Given the description of an element on the screen output the (x, y) to click on. 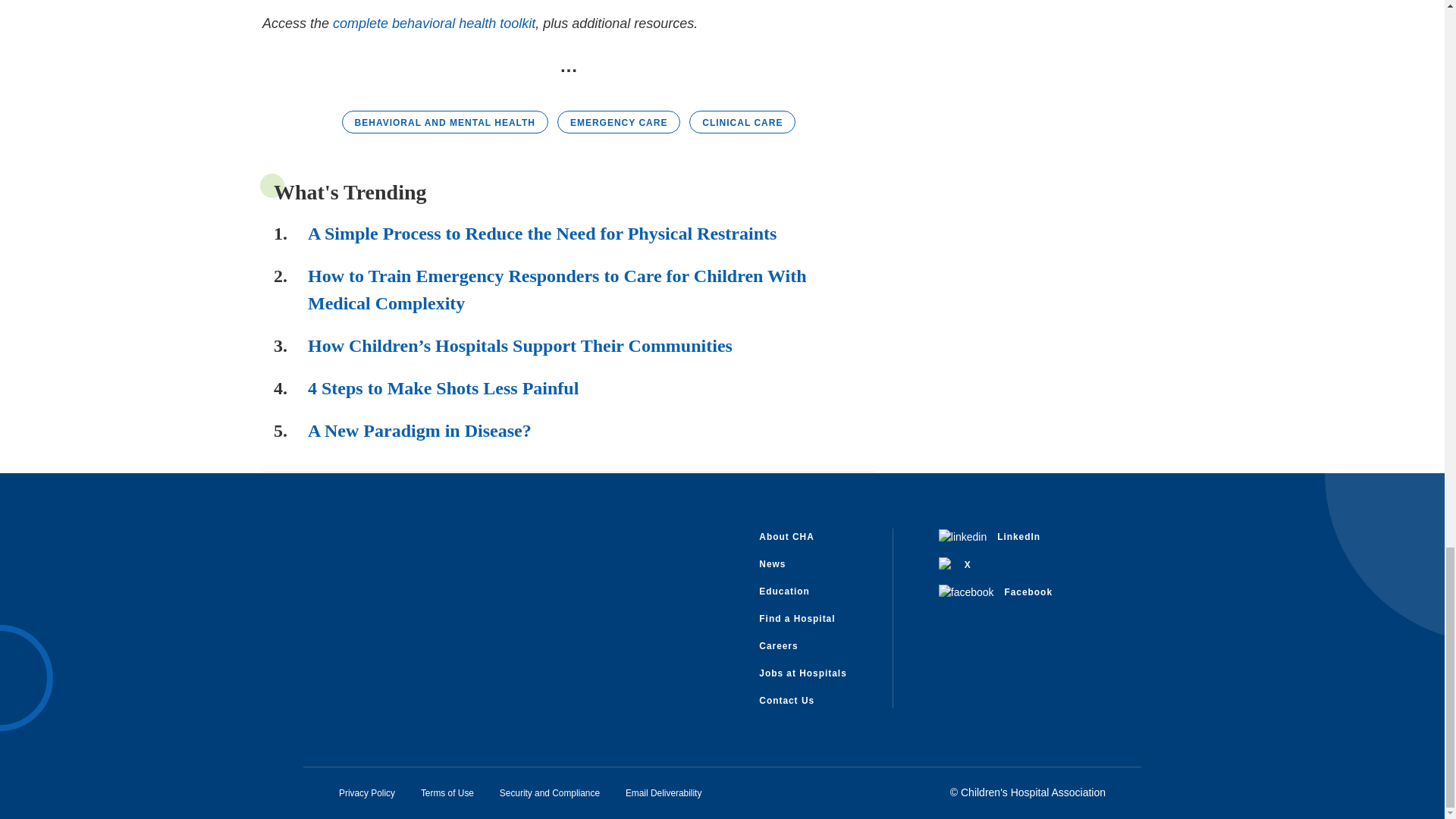
A New Paradigm in Disease? (419, 430)
BEHAVIORAL AND MENTAL HEALTH (445, 121)
complete behavioral health toolkit (434, 23)
EMERGENCY CARE (618, 121)
4 Steps to Make Shots Less Painful (442, 388)
A Simple Process to Reduce the Need for Physical Restraints (541, 233)
CLINICAL CARE (741, 121)
